Given the description of an element on the screen output the (x, y) to click on. 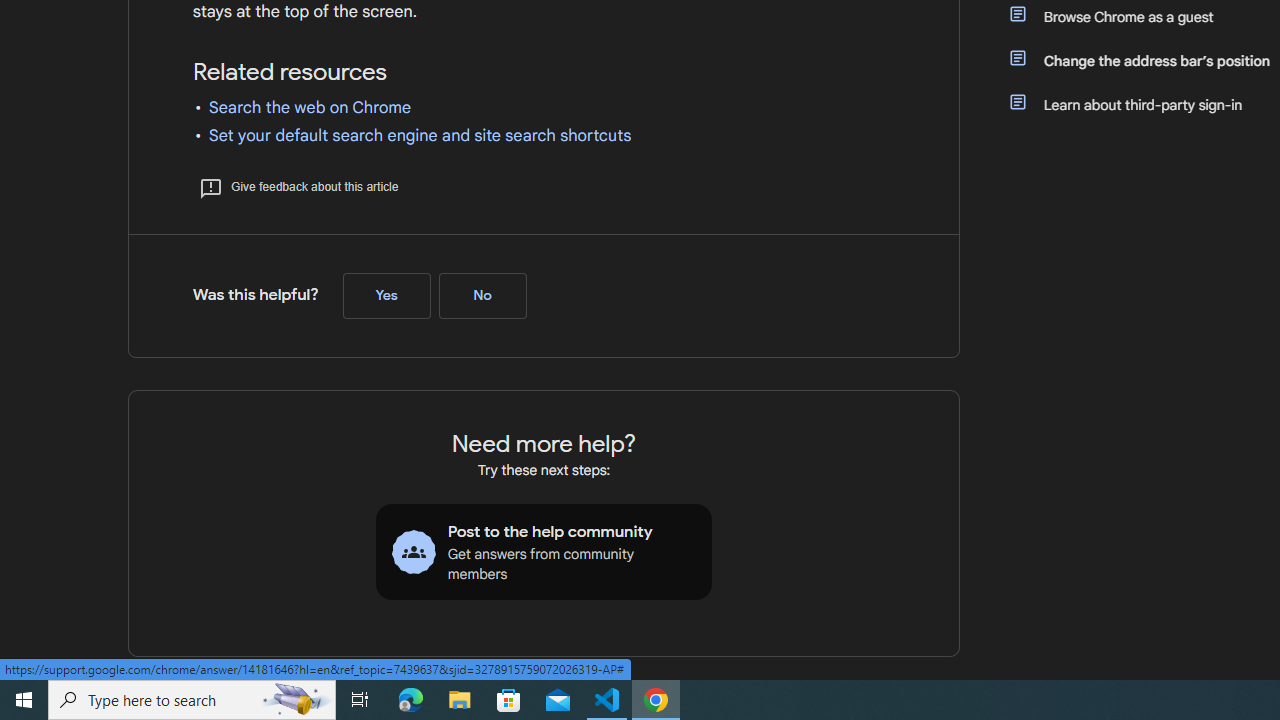
Set your default search engine and site search shortcuts (420, 135)
No (Was this helpful?) (482, 295)
Yes (Was this helpful?) (386, 295)
Give feedback about this article (298, 186)
Search the web on Chrome (310, 107)
